Given the description of an element on the screen output the (x, y) to click on. 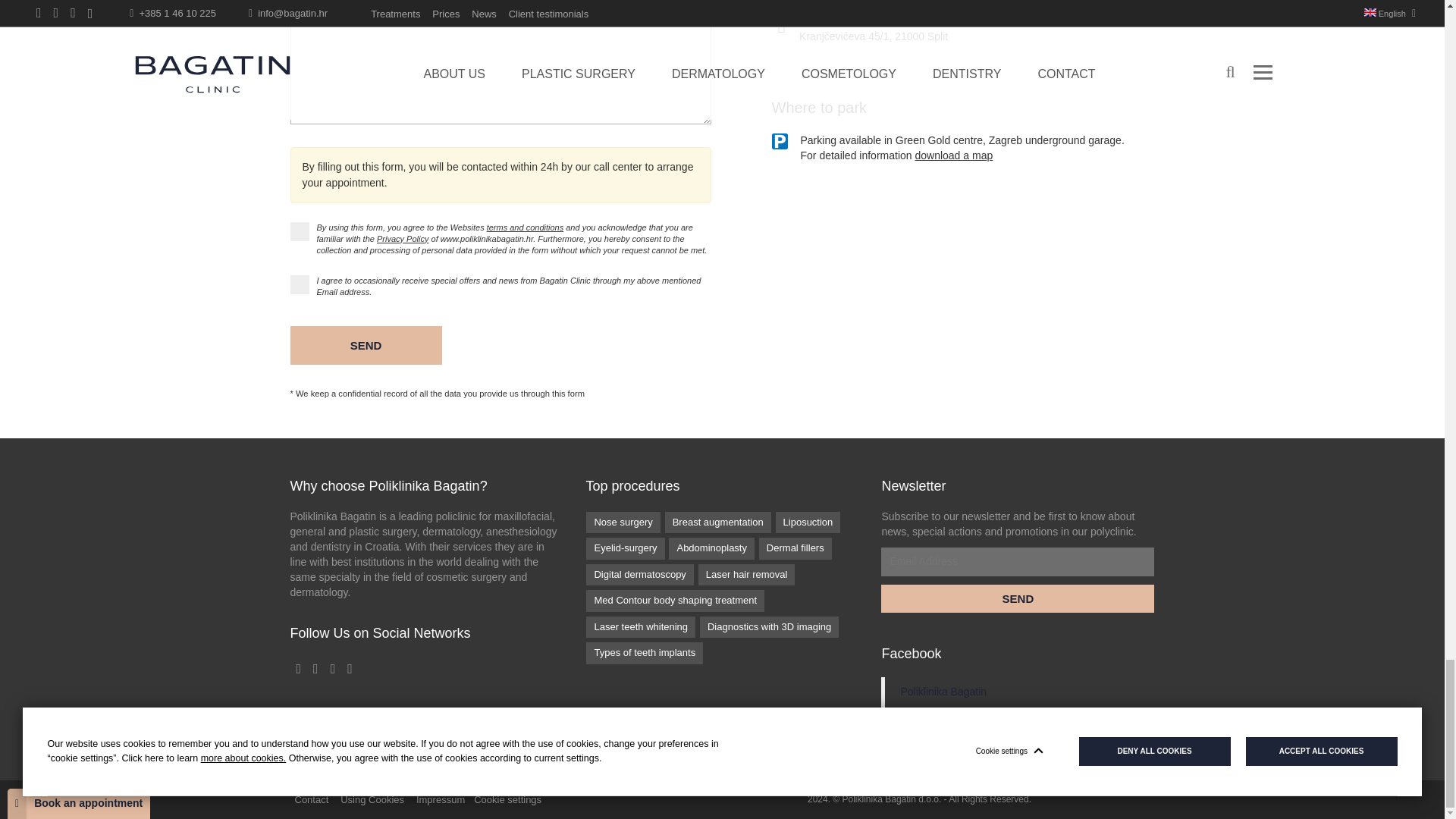
SEND (365, 344)
Send (1017, 598)
